Given the description of an element on the screen output the (x, y) to click on. 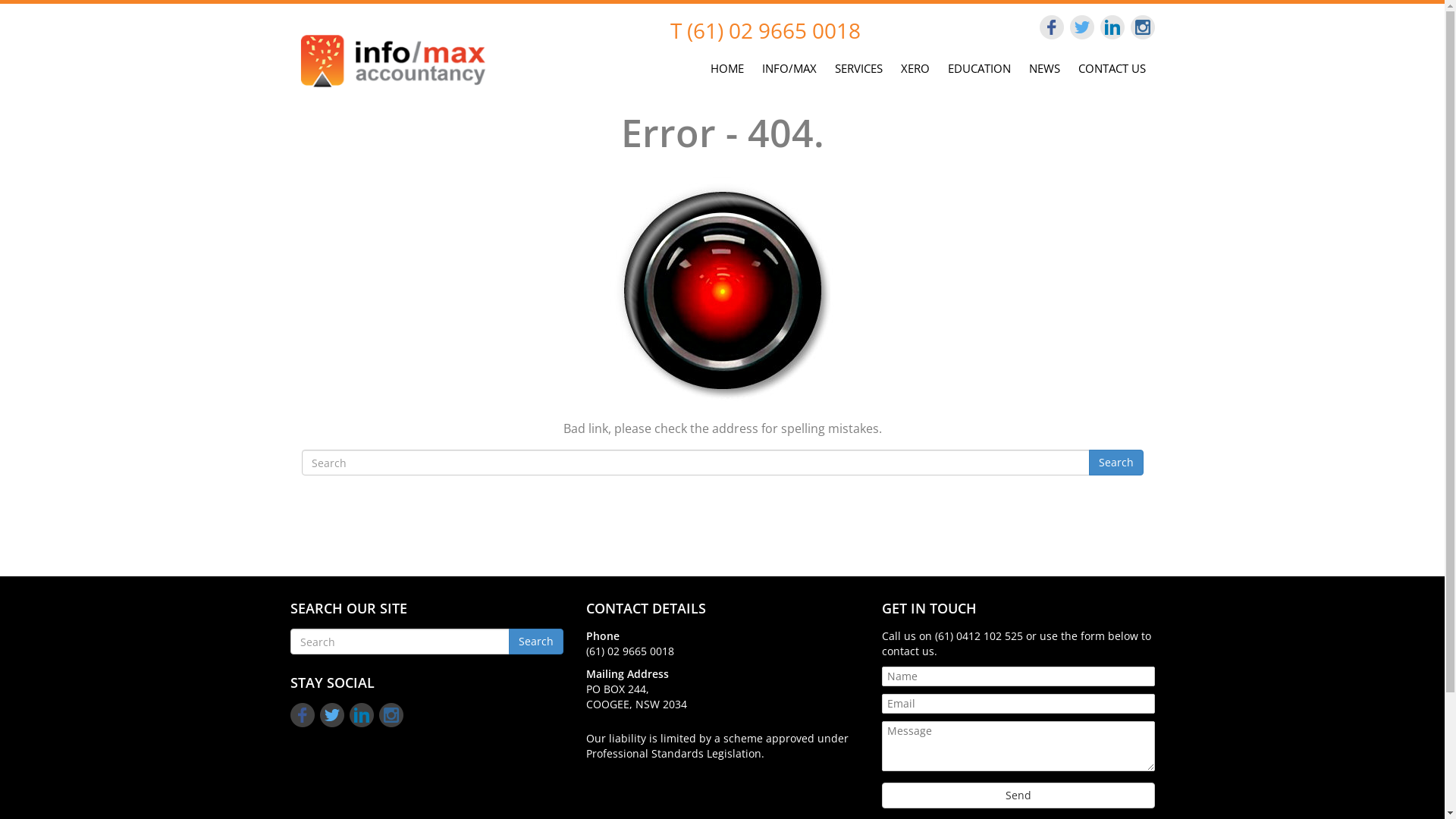
CONTACT US Element type: text (1111, 65)
Visit us on instagram Element type: hover (1141, 27)
Send Element type: text (1017, 795)
Visit us on LinkedIn Element type: hover (1111, 27)
Visit us on LinkedIn Element type: hover (360, 714)
Visit us on Facebook Element type: hover (301, 714)
NEWS Element type: text (1043, 65)
INFOMAX ACCOUNTANCY Element type: hover (391, 59)
SERVICES Element type: text (858, 65)
HOME Element type: text (726, 65)
Visit us on instagram Element type: hover (391, 714)
Visit us on Facebook Element type: hover (1050, 27)
EDUCATION Element type: text (978, 65)
Visit us on Twitter Element type: hover (332, 714)
XERO Element type: text (914, 65)
Search Element type: text (535, 641)
Visit us on Twitter Element type: hover (1081, 27)
INFO/MAX Element type: text (788, 65)
Search Element type: text (1115, 462)
